Given the description of an element on the screen output the (x, y) to click on. 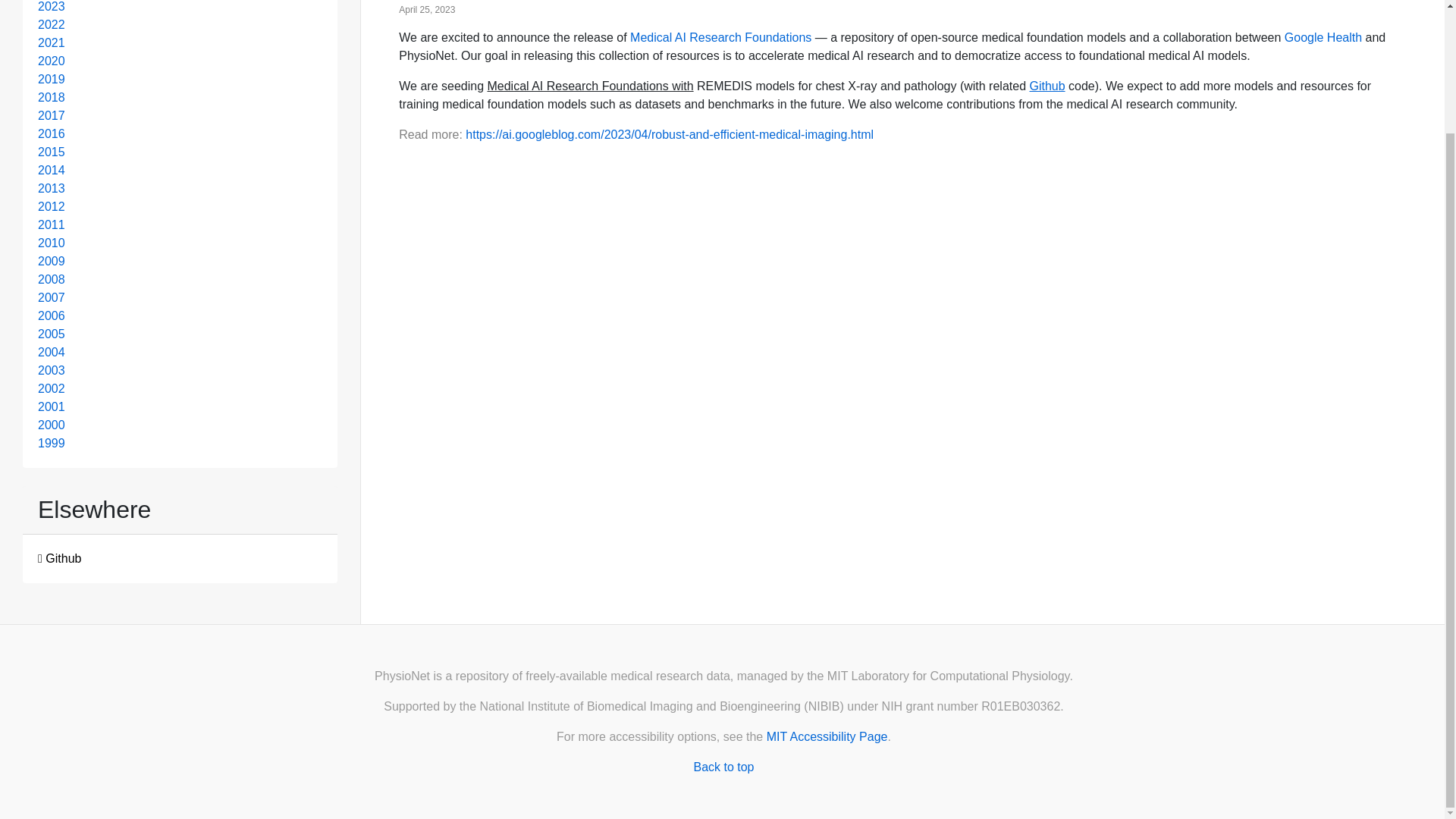
Medical AI Research Foundations (720, 37)
2021 (51, 42)
2003 (51, 369)
2007 (51, 297)
Google Health (1322, 37)
2019 (51, 78)
2015 (51, 151)
2009 (51, 260)
2005 (51, 333)
2002 (51, 388)
2020 (51, 60)
2006 (51, 315)
2013 (51, 187)
2017 (51, 115)
2018 (51, 97)
